Given the description of an element on the screen output the (x, y) to click on. 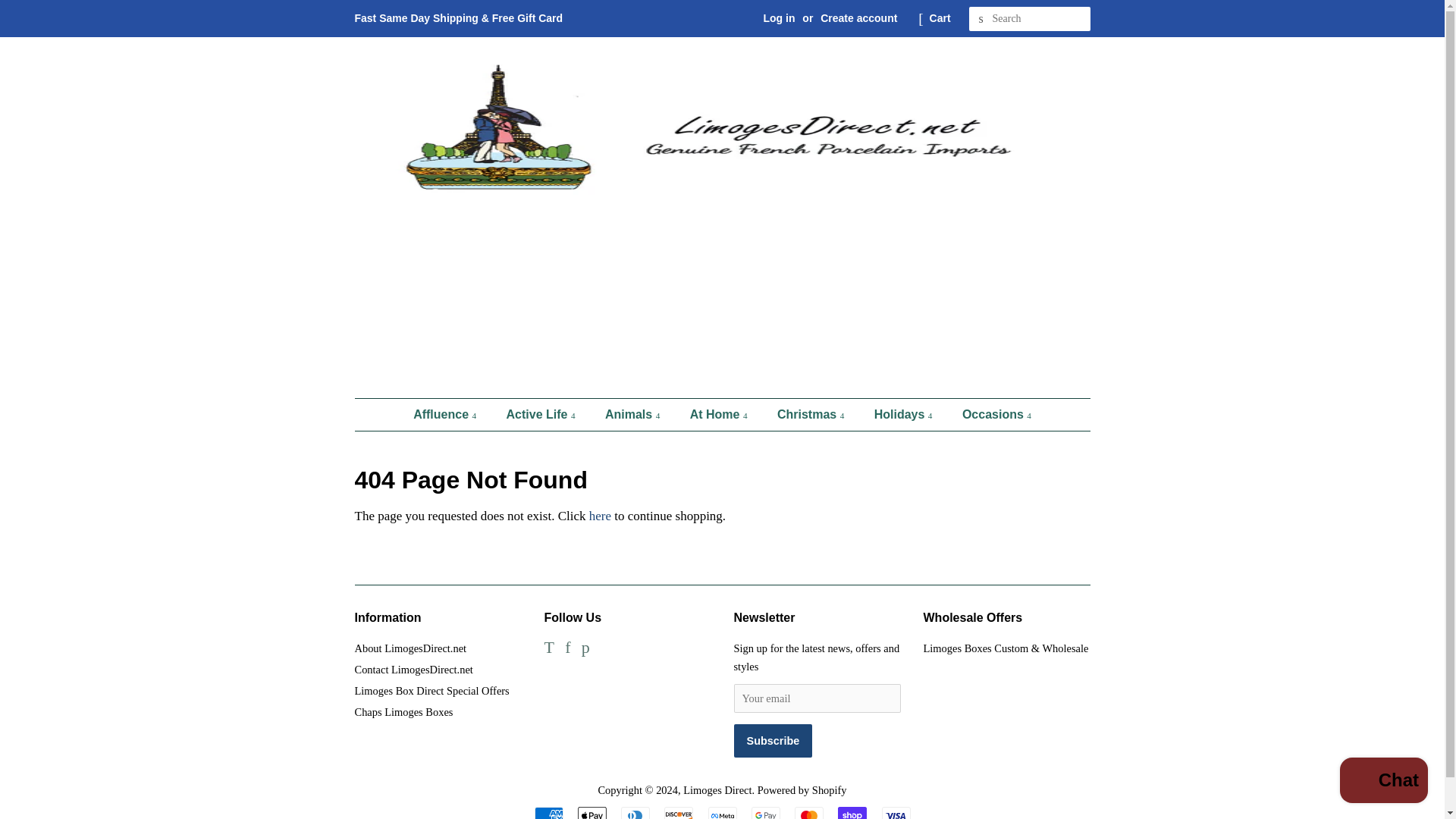
Visa (895, 812)
Meta Pay (721, 812)
Shopify online store chat (1383, 781)
Subscribe (772, 740)
Google Pay (765, 812)
Apple Pay (592, 812)
American Express (548, 812)
Create account (858, 18)
Diners Club (635, 812)
Search (980, 18)
Mastercard (809, 812)
Cart (940, 18)
Shop Pay (852, 812)
Log in (778, 18)
Discover (678, 812)
